Given the description of an element on the screen output the (x, y) to click on. 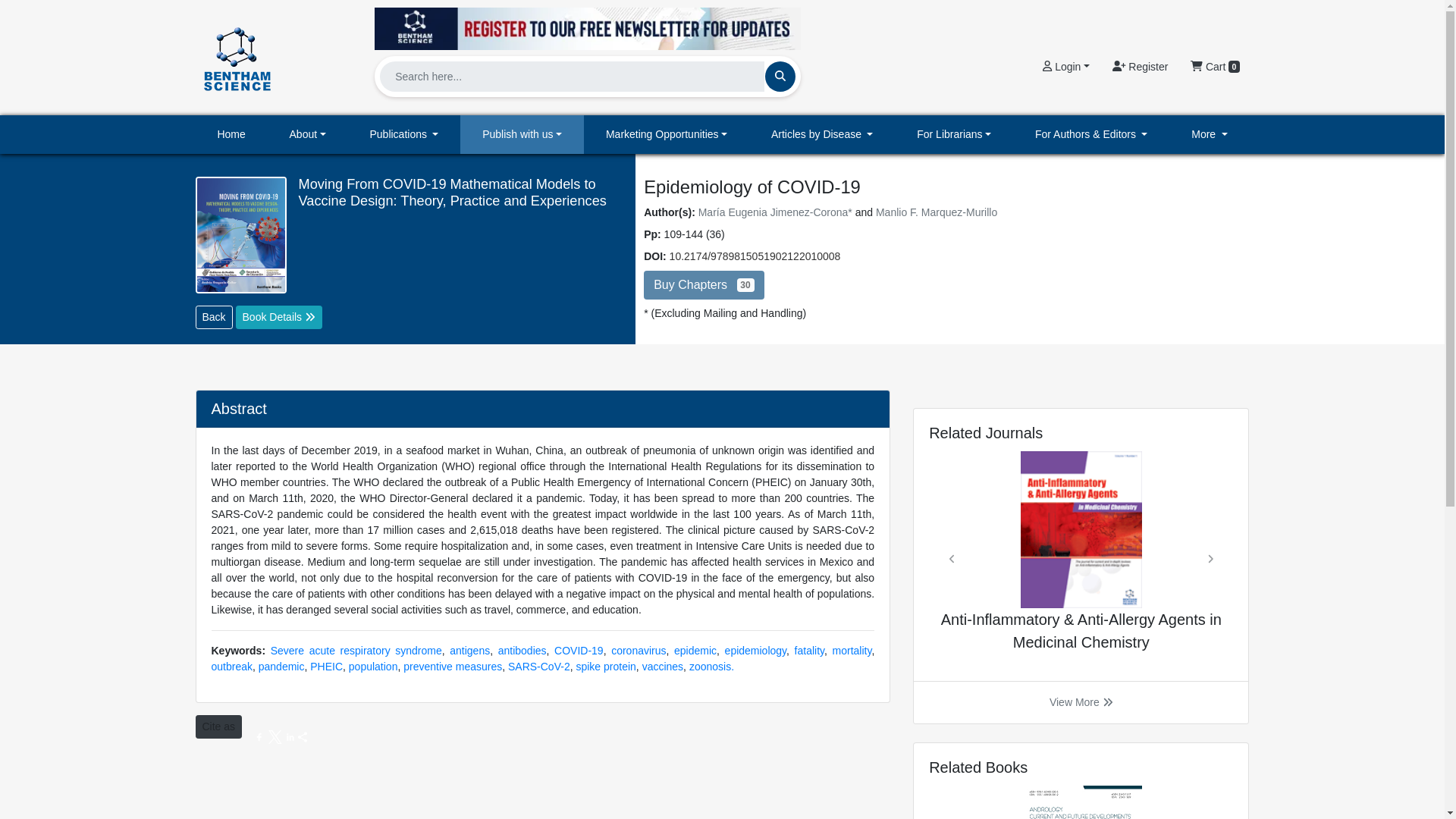
Publications (404, 134)
newsletter banner (587, 24)
Search Button (779, 76)
Cart 0 (1214, 67)
Home (231, 134)
About (307, 134)
Login (1065, 67)
Register (1139, 67)
newsletter banner (587, 28)
